Given the description of an element on the screen output the (x, y) to click on. 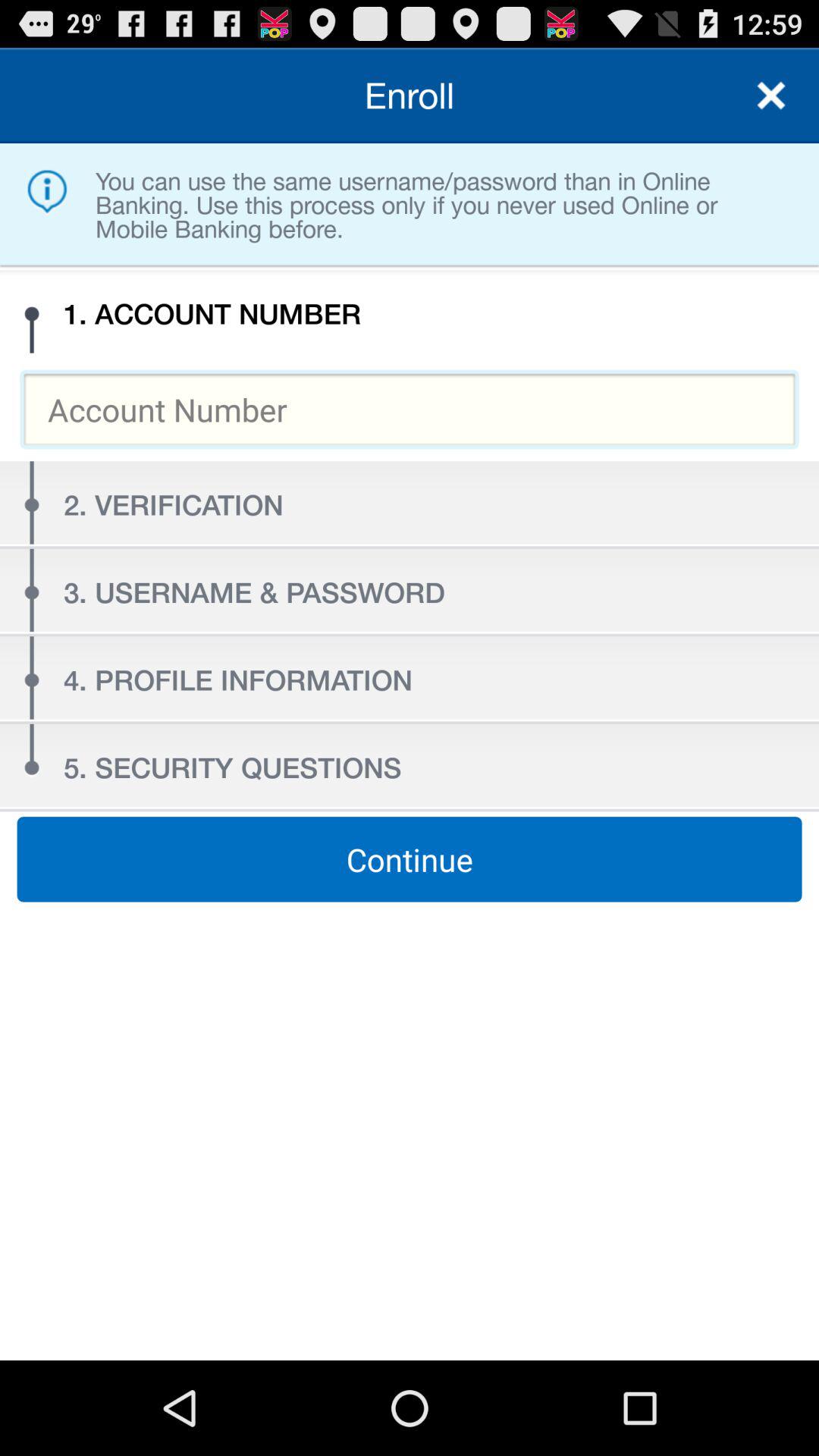
click the icon above 2. verification (409, 409)
